Given the description of an element on the screen output the (x, y) to click on. 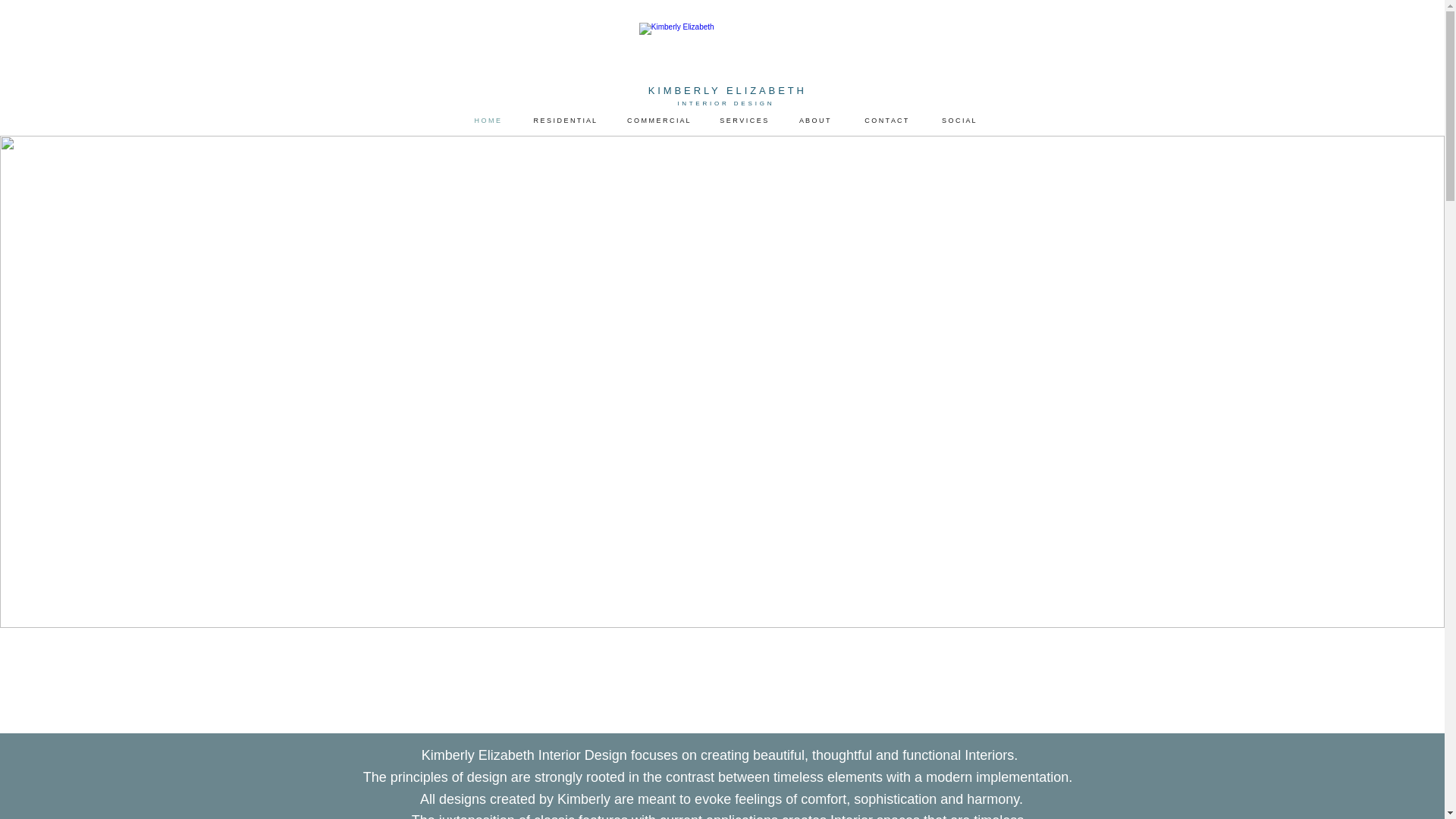
A B O U T (814, 120)
S O C I A L (958, 120)
S E R V I C E S (743, 120)
C O M M E R C I A L (658, 120)
C O N T A C T (885, 120)
R E S I D E N T I A L (564, 120)
H O M E (487, 120)
